Given the description of an element on the screen output the (x, y) to click on. 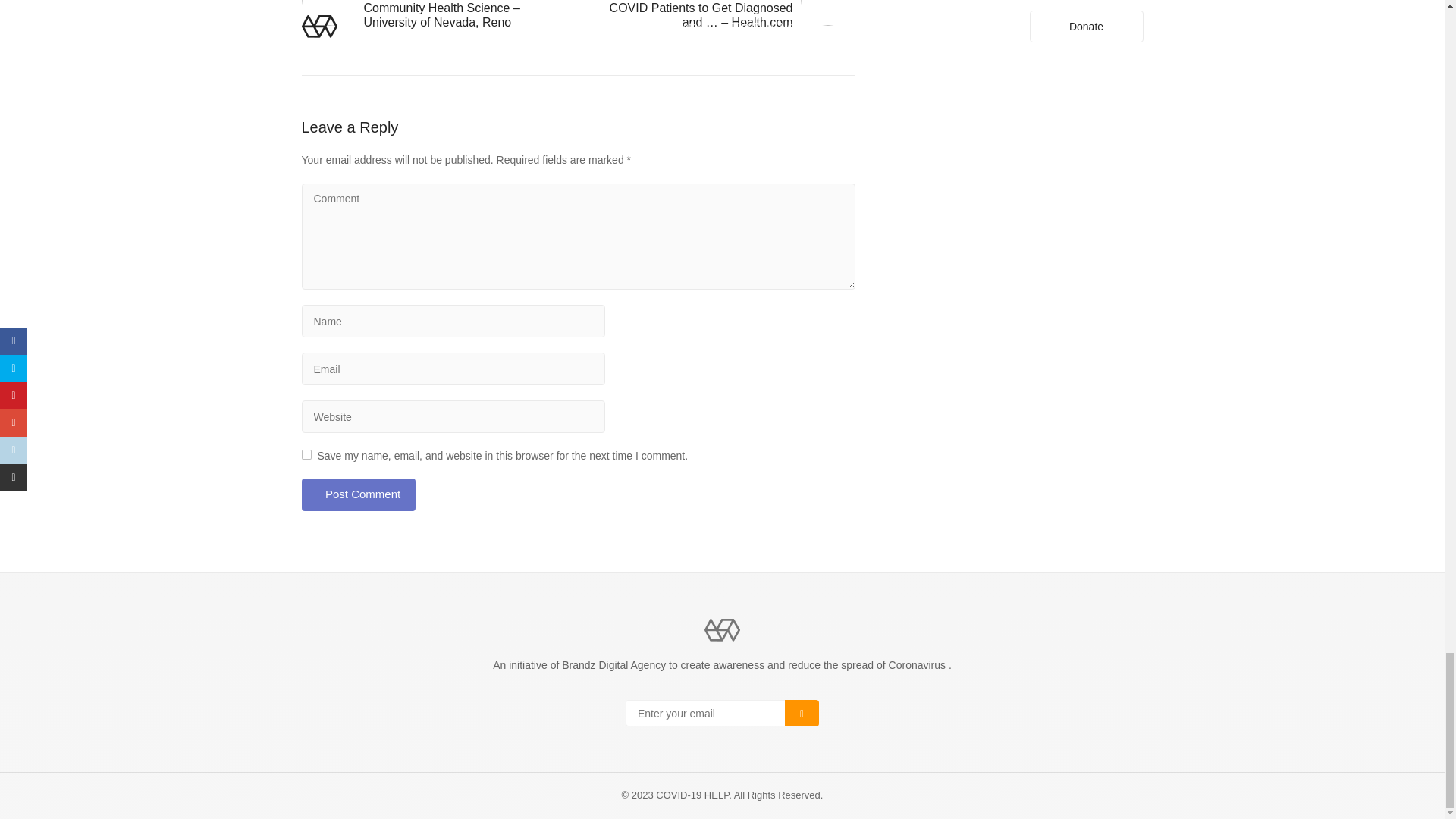
Post Comment (357, 494)
